Given the description of an element on the screen output the (x, y) to click on. 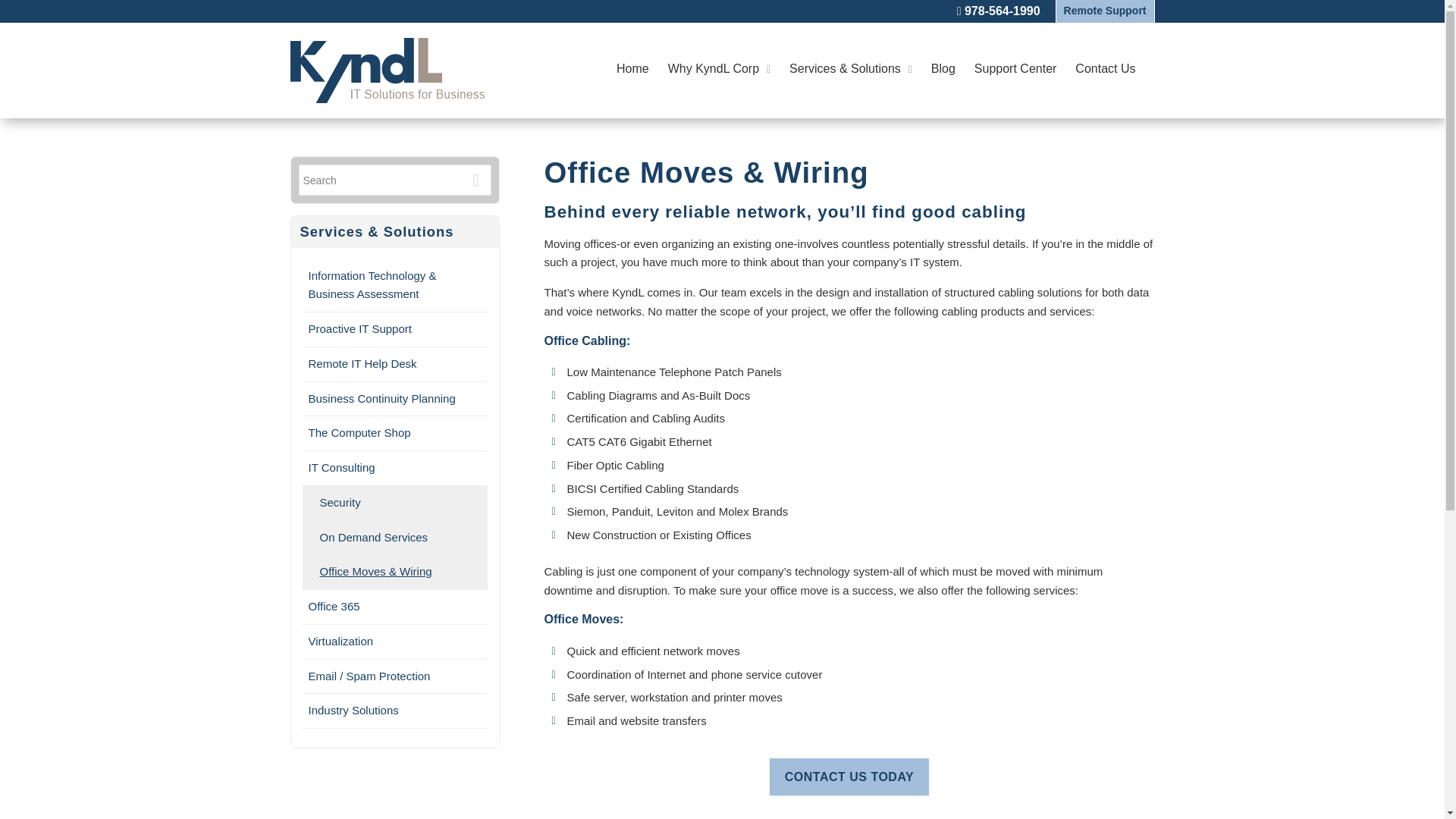
Remote IT Help Desk (393, 364)
Contact Us (1105, 68)
Support Center (1015, 68)
Proactive IT Support (393, 329)
Why KyndL Corp (719, 68)
The Computer Shop (393, 433)
CONTACT US TODAY (849, 776)
Business Continuity Planning (393, 399)
Remote Support (1104, 11)
